Given the description of an element on the screen output the (x, y) to click on. 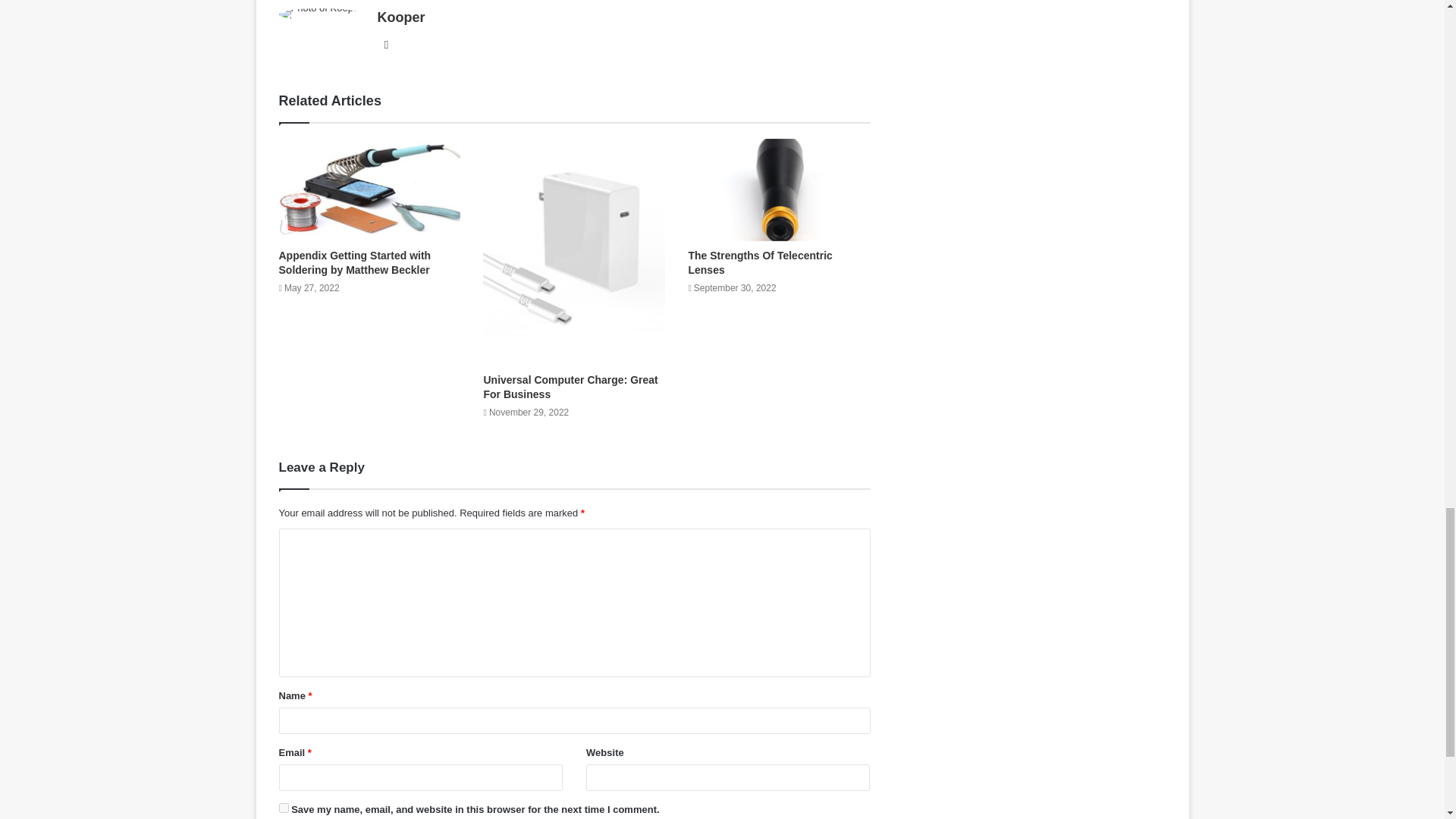
Appendix Getting Started with Soldering by Matthew Beckler (354, 262)
Kooper (401, 17)
Website (385, 45)
Universal Computer Charge: Great For Business (570, 386)
yes (283, 808)
